Given the description of an element on the screen output the (x, y) to click on. 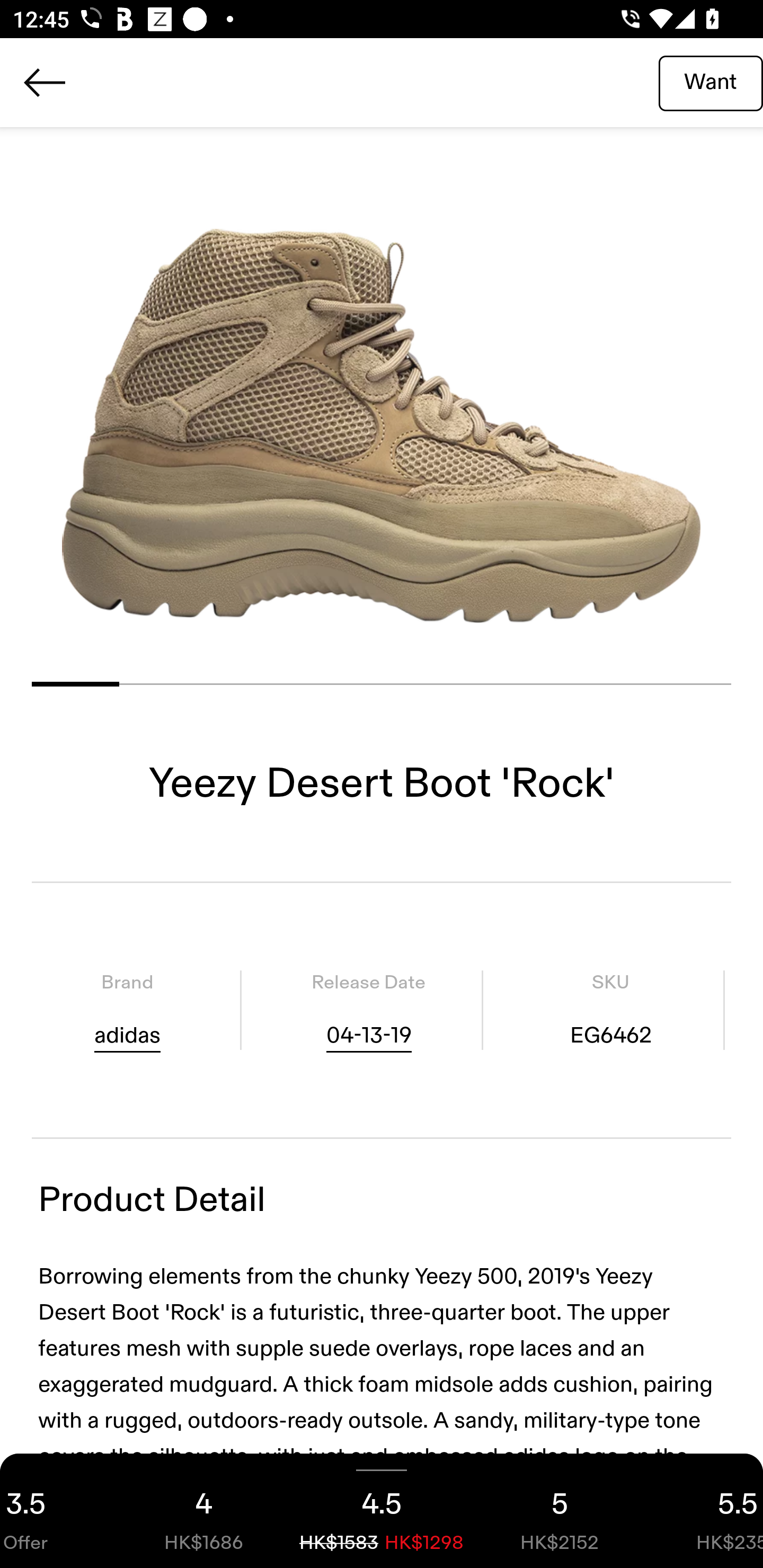
Want (710, 82)
Brand adidas (126, 1009)
Release Date 04-13-19 (368, 1009)
SKU EG6462 (609, 1009)
3.5 Offer (57, 1510)
4 HK$1686 (203, 1510)
4.5 HK$1583 HK$1298 (381, 1510)
5 HK$2152 (559, 1510)
5.5 HK$2350 (705, 1510)
